Given the description of an element on the screen output the (x, y) to click on. 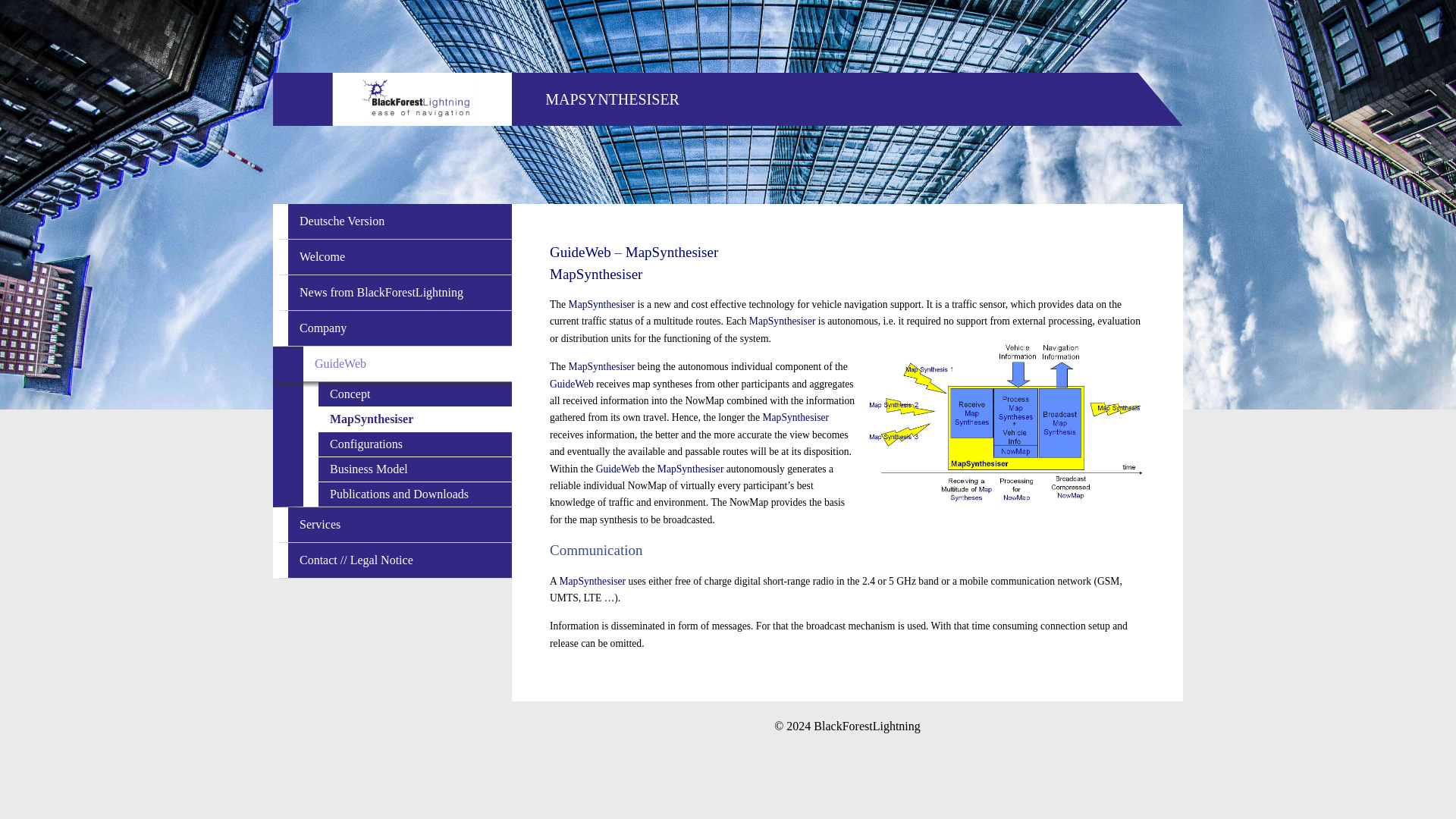
GuideWeb (407, 363)
Concept (415, 394)
Services (400, 524)
Configurations (415, 444)
News from BlackForestLightning (400, 292)
MapSynthesiser Workings (1004, 421)
Business Model (415, 469)
Deutsche Version (400, 221)
Welcome (400, 256)
MapSynthesiser (415, 419)
